Given the description of an element on the screen output the (x, y) to click on. 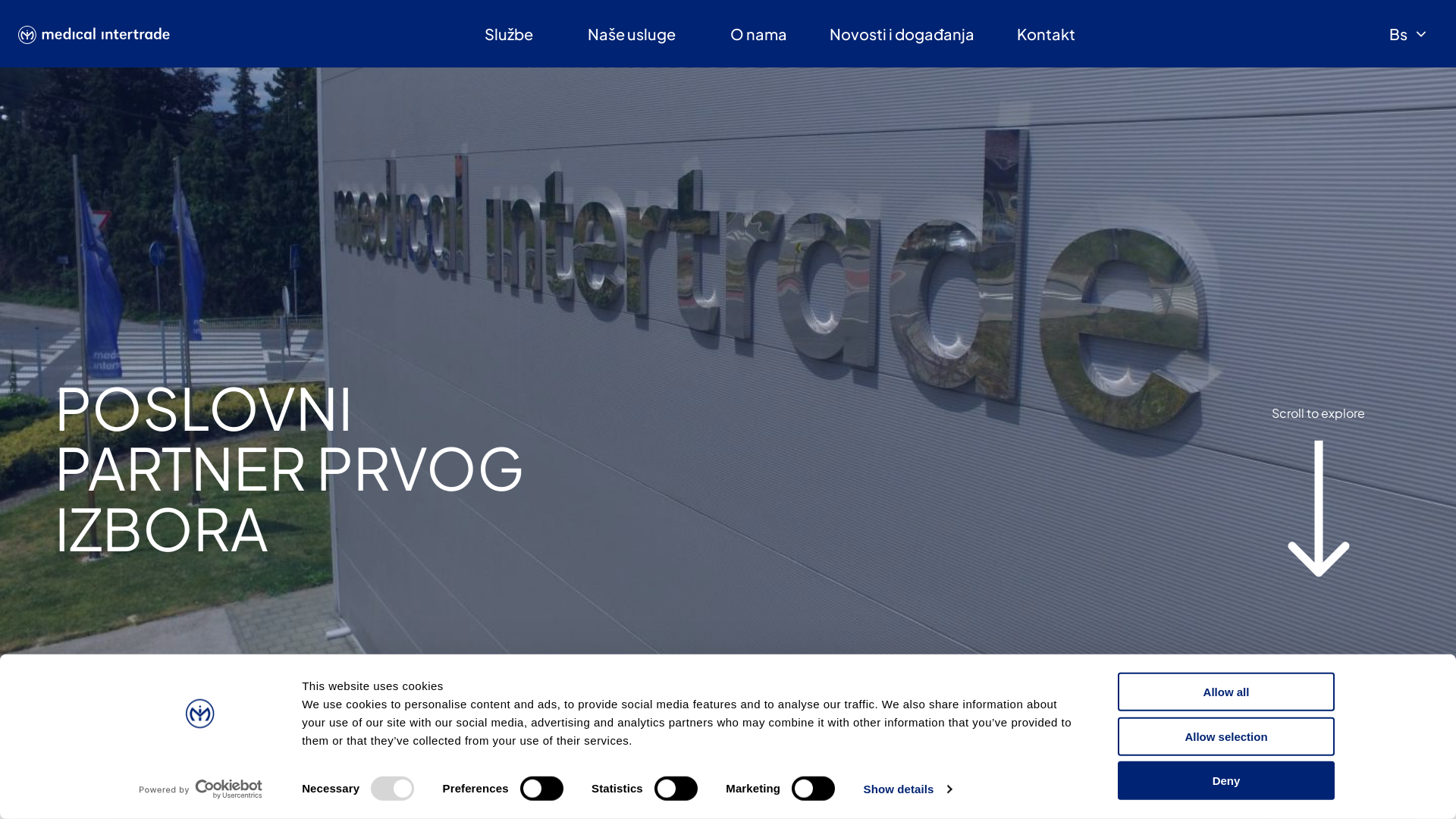
Allow all Element type: text (1225, 691)
Deny Element type: text (1225, 780)
O nama Element type: text (757, 33)
Allow selection Element type: text (1225, 735)
Show details Element type: text (907, 789)
